Given the description of an element on the screen output the (x, y) to click on. 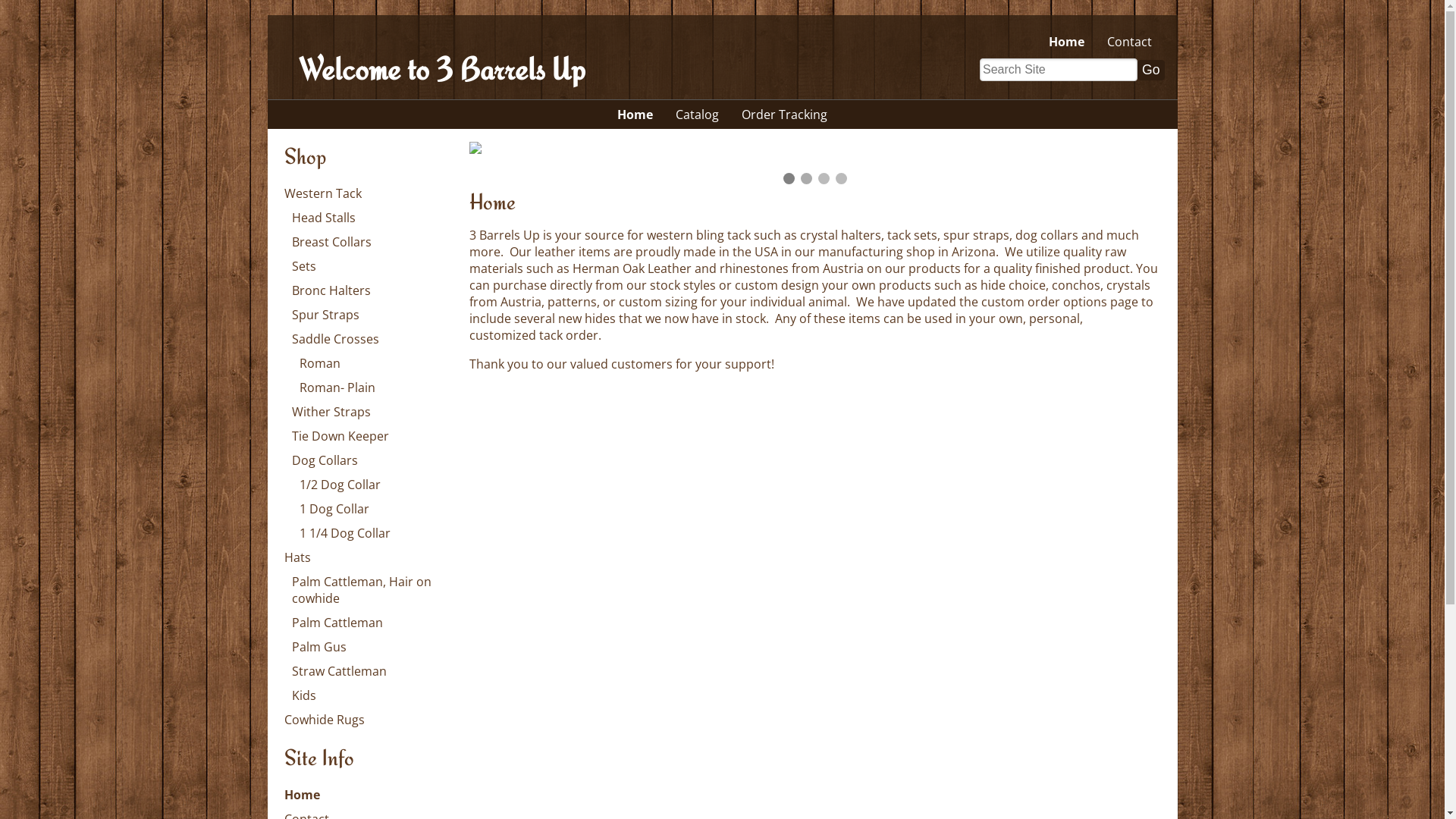
Catalog Element type: text (696, 114)
Tie Down Keeper Element type: text (339, 435)
Hats Element type: text (296, 557)
Palm Gus Element type: text (318, 646)
Home Element type: text (1065, 41)
Dog Collars Element type: text (324, 459)
Western Tack Element type: text (321, 193)
Roman Element type: text (318, 362)
1 1/4 Dog Collar Element type: text (343, 532)
Contact Element type: text (1129, 41)
Spur Straps Element type: text (324, 314)
1/2 Dog Collar Element type: text (338, 484)
Roman- Plain Element type: text (336, 387)
Saddle Crosses Element type: text (334, 338)
Order Tracking Element type: text (784, 114)
Go Element type: text (1150, 69)
Straw Cattleman Element type: text (338, 670)
Breast Collars Element type: text (330, 241)
Sets Element type: text (303, 265)
Bronc Halters Element type: text (330, 290)
Kids Element type: text (303, 695)
Home Element type: text (301, 794)
Palm Cattleman, Hair on cowhide Element type: text (369, 589)
Wither Straps Element type: text (330, 411)
Head Stalls Element type: text (322, 217)
Cowhide Rugs Element type: text (323, 719)
Home Element type: text (634, 114)
1 Dog Collar Element type: text (333, 508)
Palm Cattleman Element type: text (336, 622)
